Given the description of an element on the screen output the (x, y) to click on. 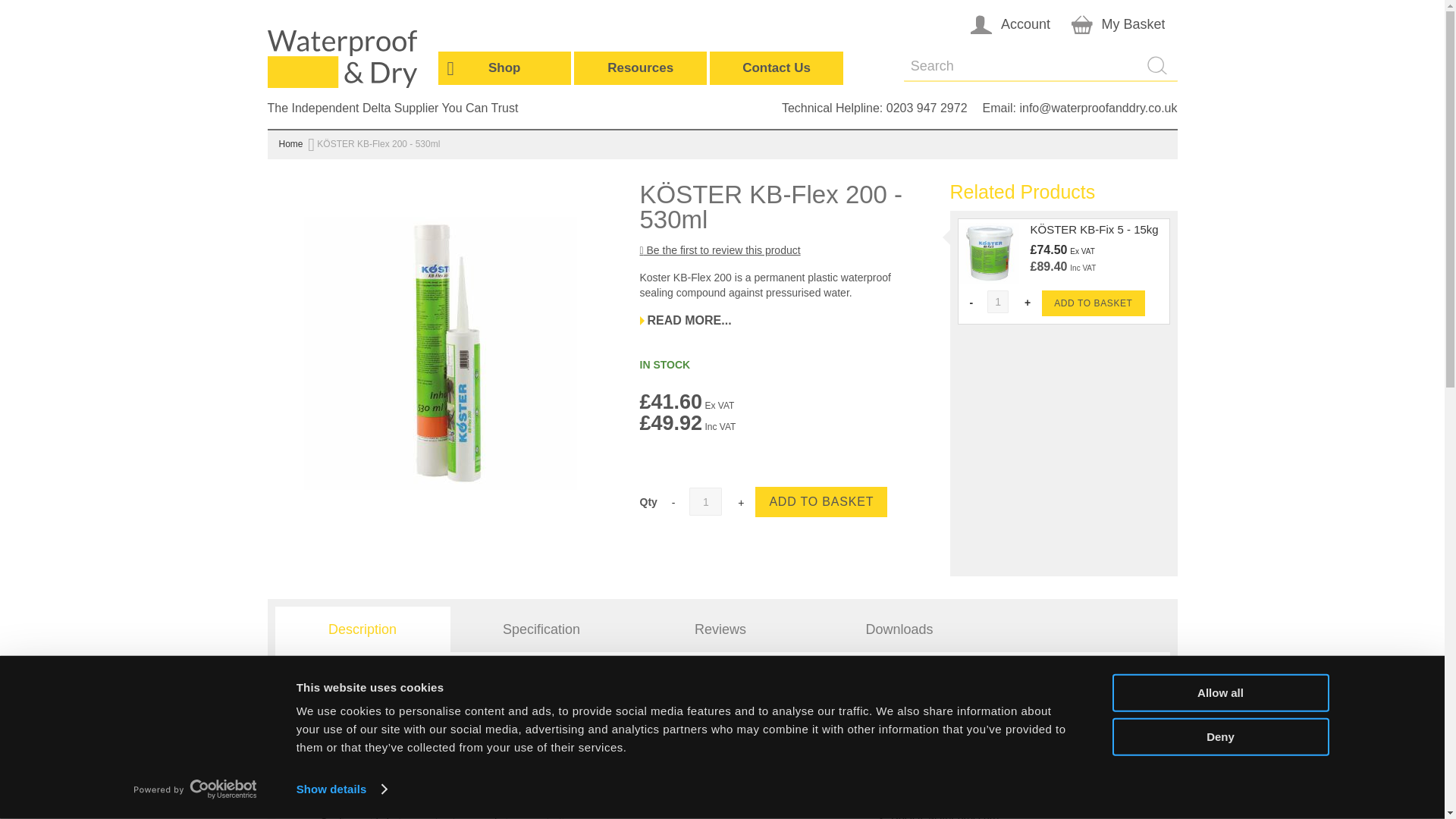
1 (998, 301)
Go to Home Page (290, 143)
Show details (341, 789)
1 (705, 501)
Deny (1219, 736)
Search (1161, 64)
Availability (665, 365)
Add to Basket (820, 501)
Qty (705, 501)
